Given the description of an element on the screen output the (x, y) to click on. 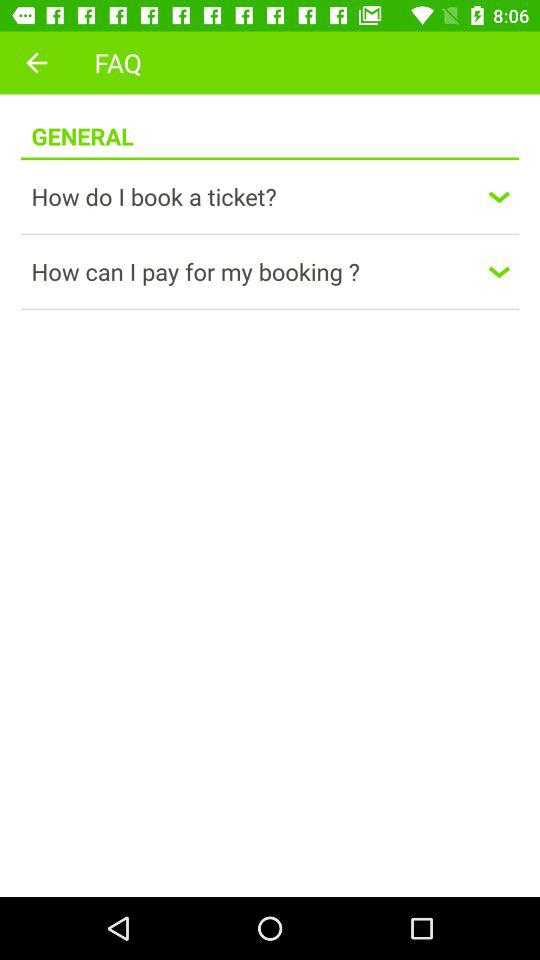
turn on the general icon (82, 125)
